Given the description of an element on the screen output the (x, y) to click on. 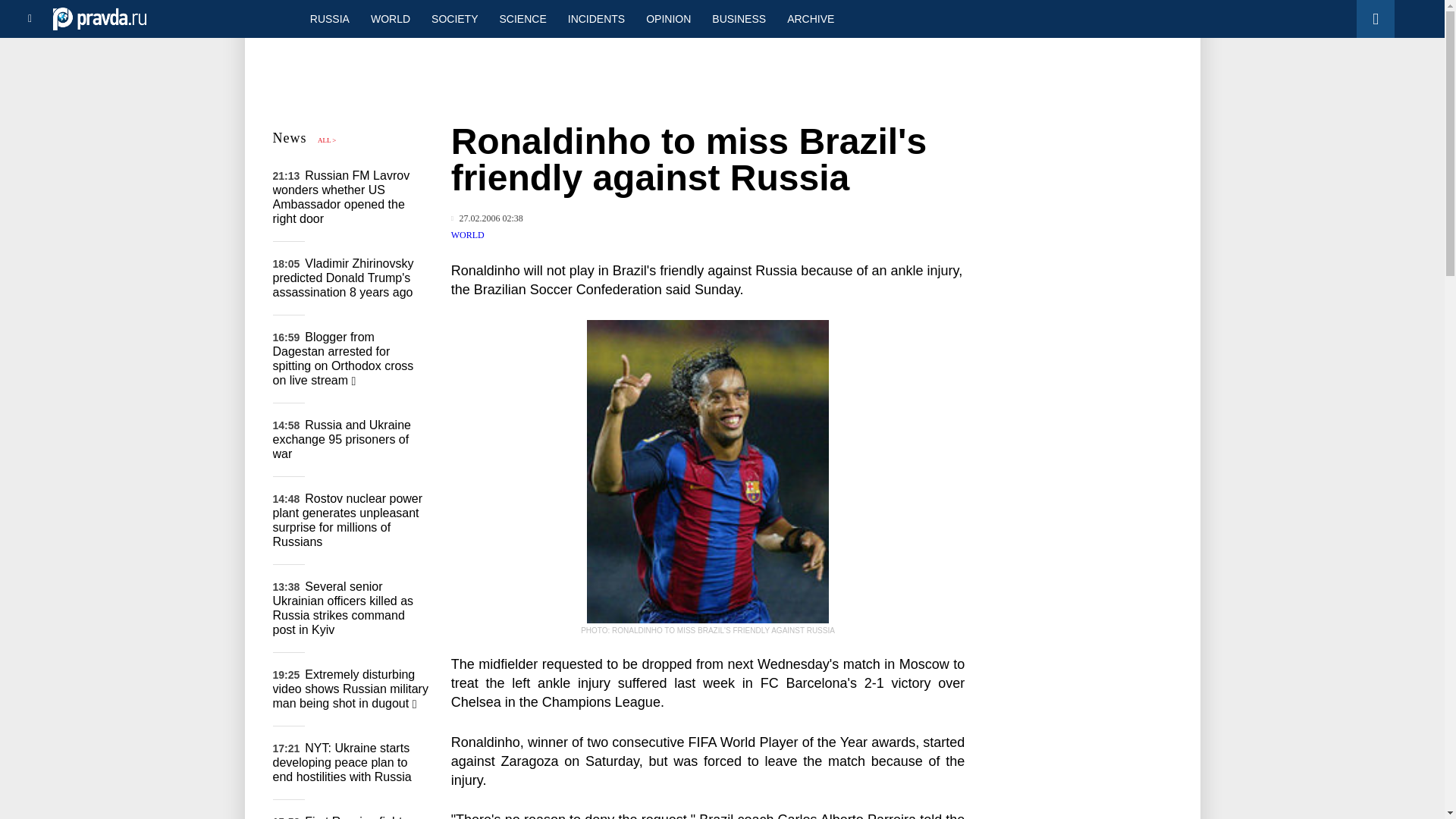
INCIDENTS (595, 18)
WORLD (467, 235)
SOCIETY (453, 18)
Published (486, 218)
ARCHIVE (810, 18)
BUSINESS (738, 18)
WORLD (389, 18)
News (290, 137)
RUSSIA (329, 18)
OPINION (667, 18)
